Given the description of an element on the screen output the (x, y) to click on. 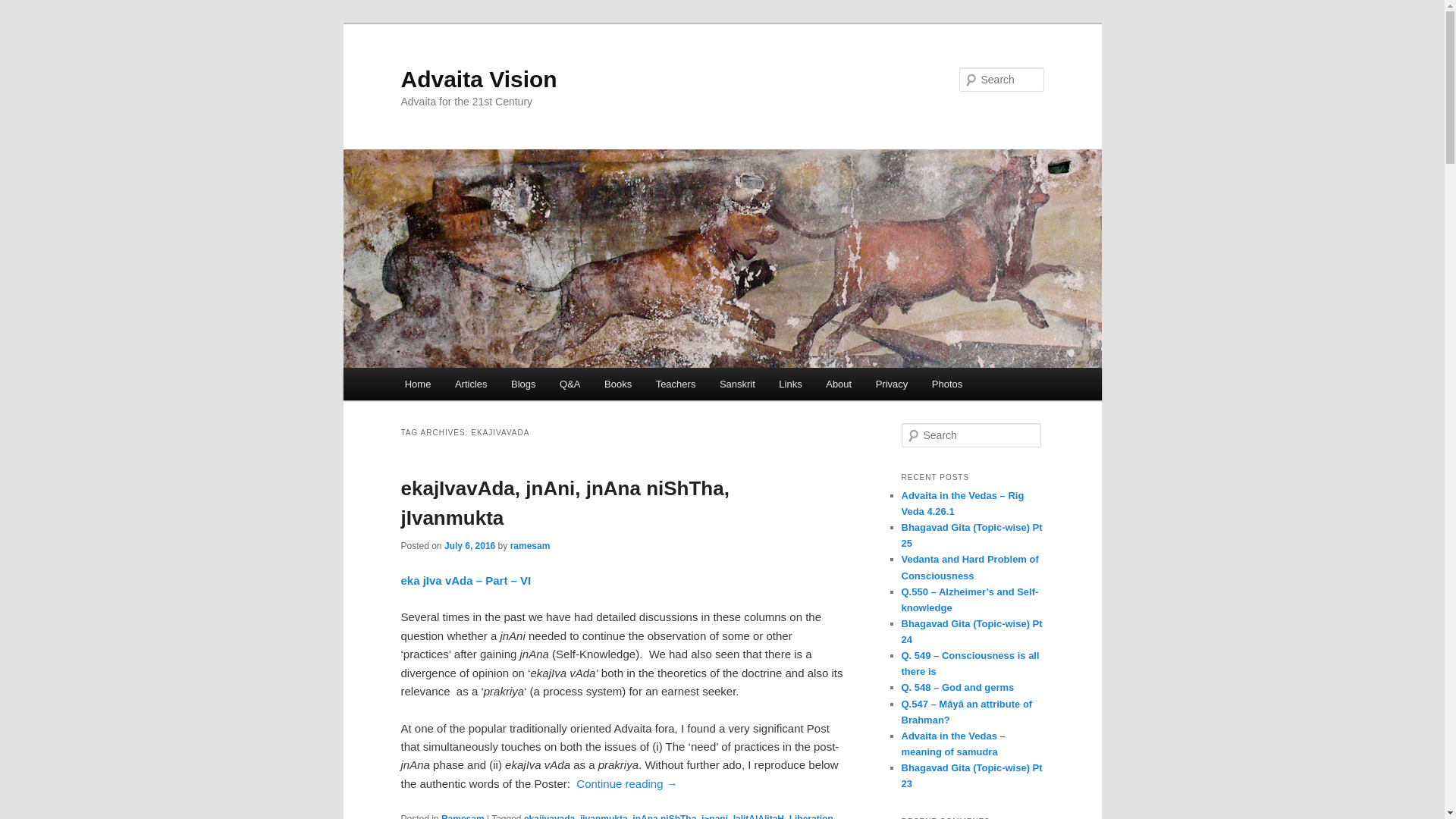
Blogs from regular contributors (523, 383)
View all posts by ramesam (530, 545)
Aims of Advaita Vision (838, 383)
ekajIvavAda, jnAni, jnAna niShTha, jIvanmukta (564, 502)
Sanskrit (737, 383)
Search (24, 8)
Teachers (675, 383)
Photos (947, 383)
About (838, 383)
23:03 (469, 545)
Links (790, 383)
July 6, 2016 (469, 545)
Books (617, 383)
